Given the description of an element on the screen output the (x, y) to click on. 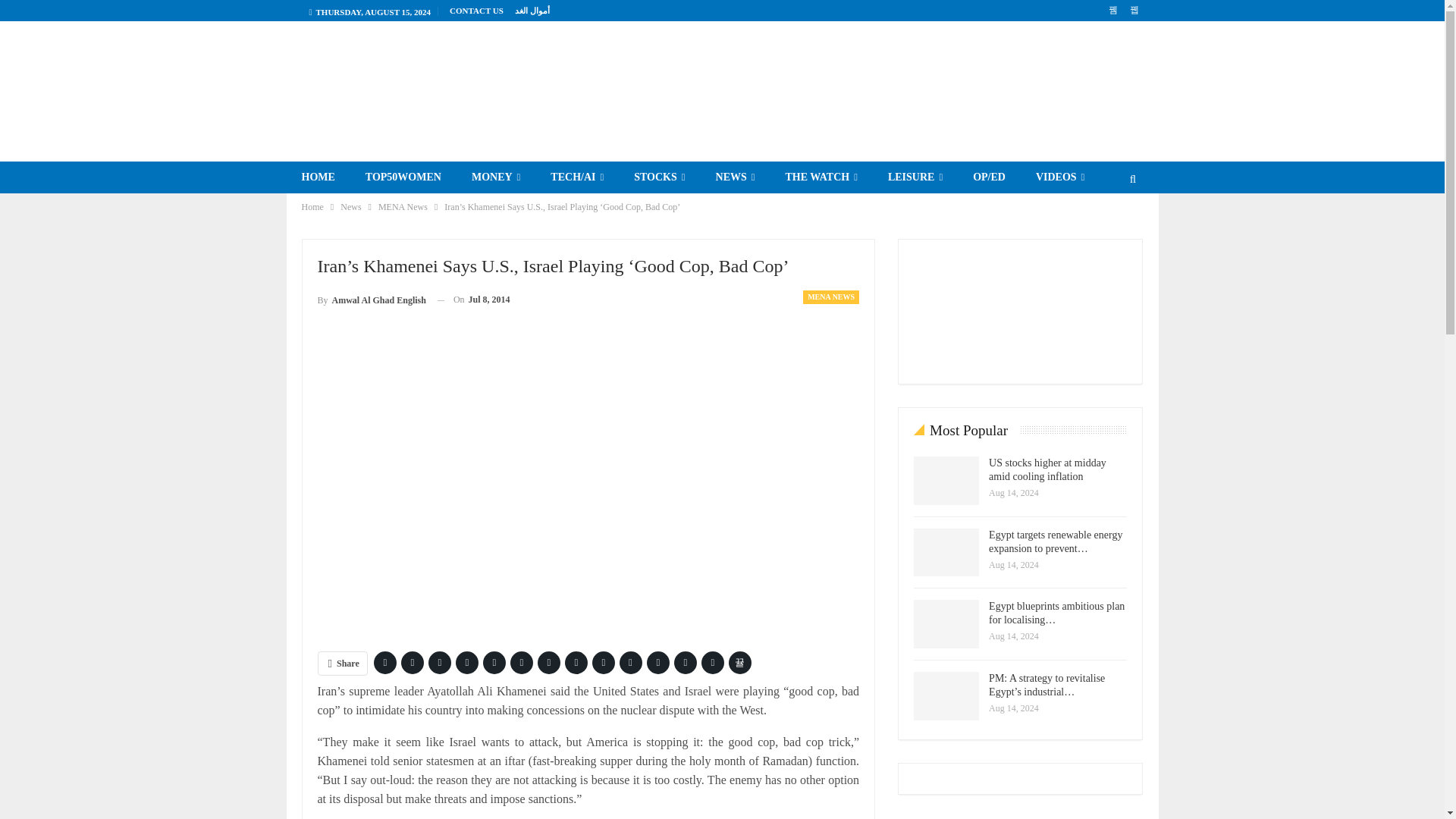
HOME (318, 177)
CONTACT US (476, 10)
TOP50WOMEN (403, 177)
MONEY (496, 177)
STOCKS (659, 177)
